Given the description of an element on the screen output the (x, y) to click on. 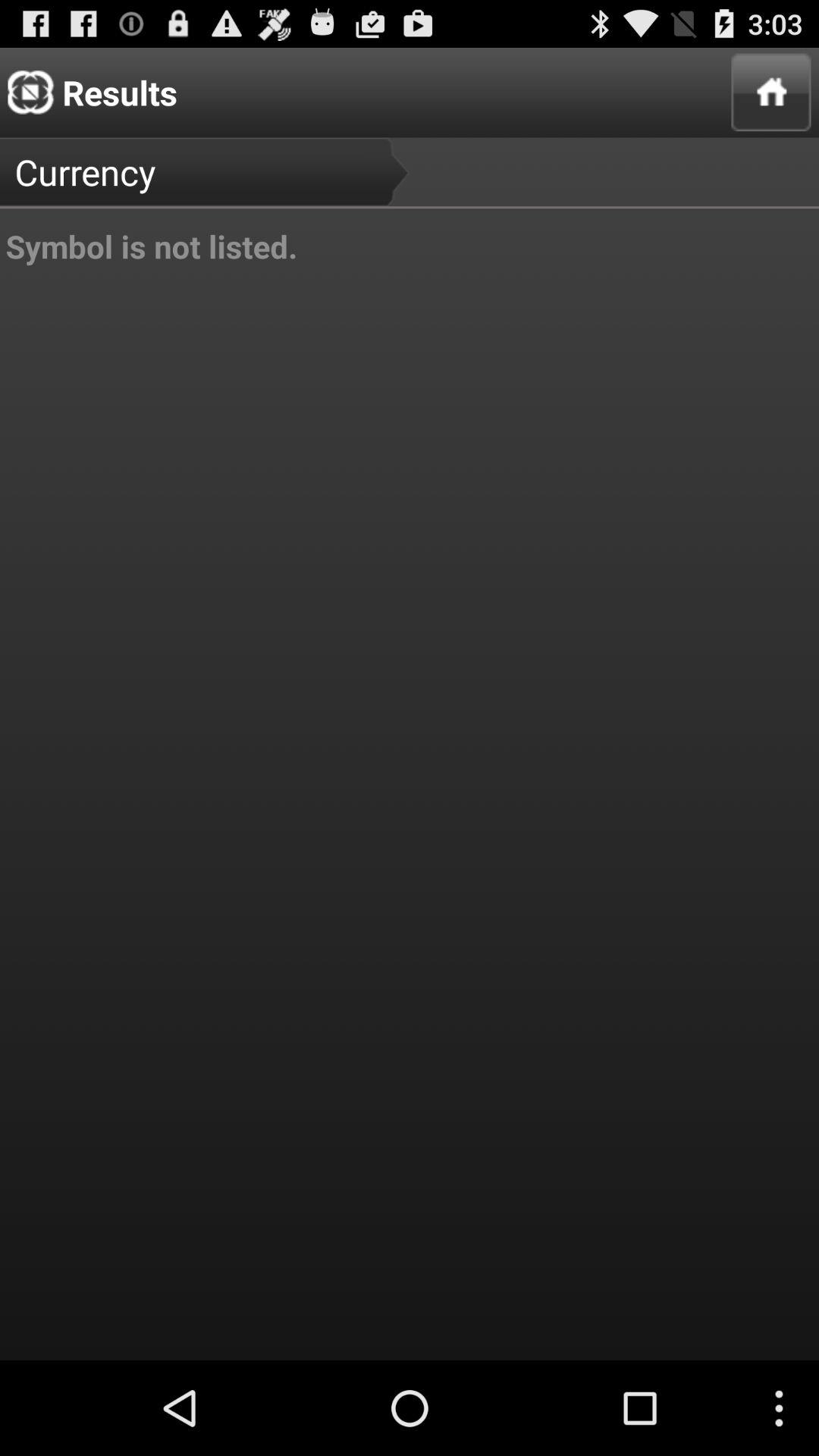
home button (771, 92)
